Given the description of an element on the screen output the (x, y) to click on. 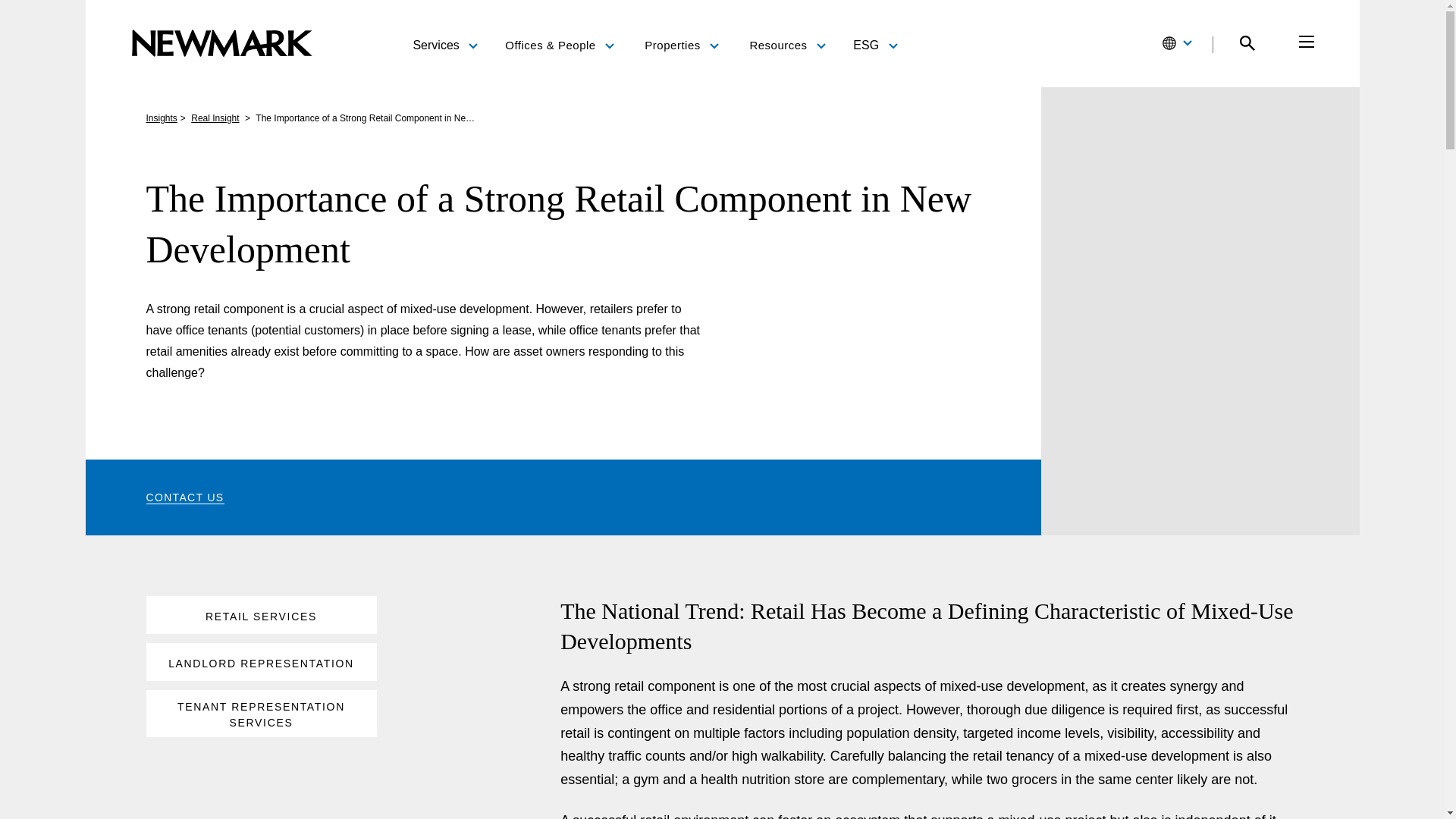
Services (444, 43)
Resources (787, 45)
Properties (682, 45)
